Given the description of an element on the screen output the (x, y) to click on. 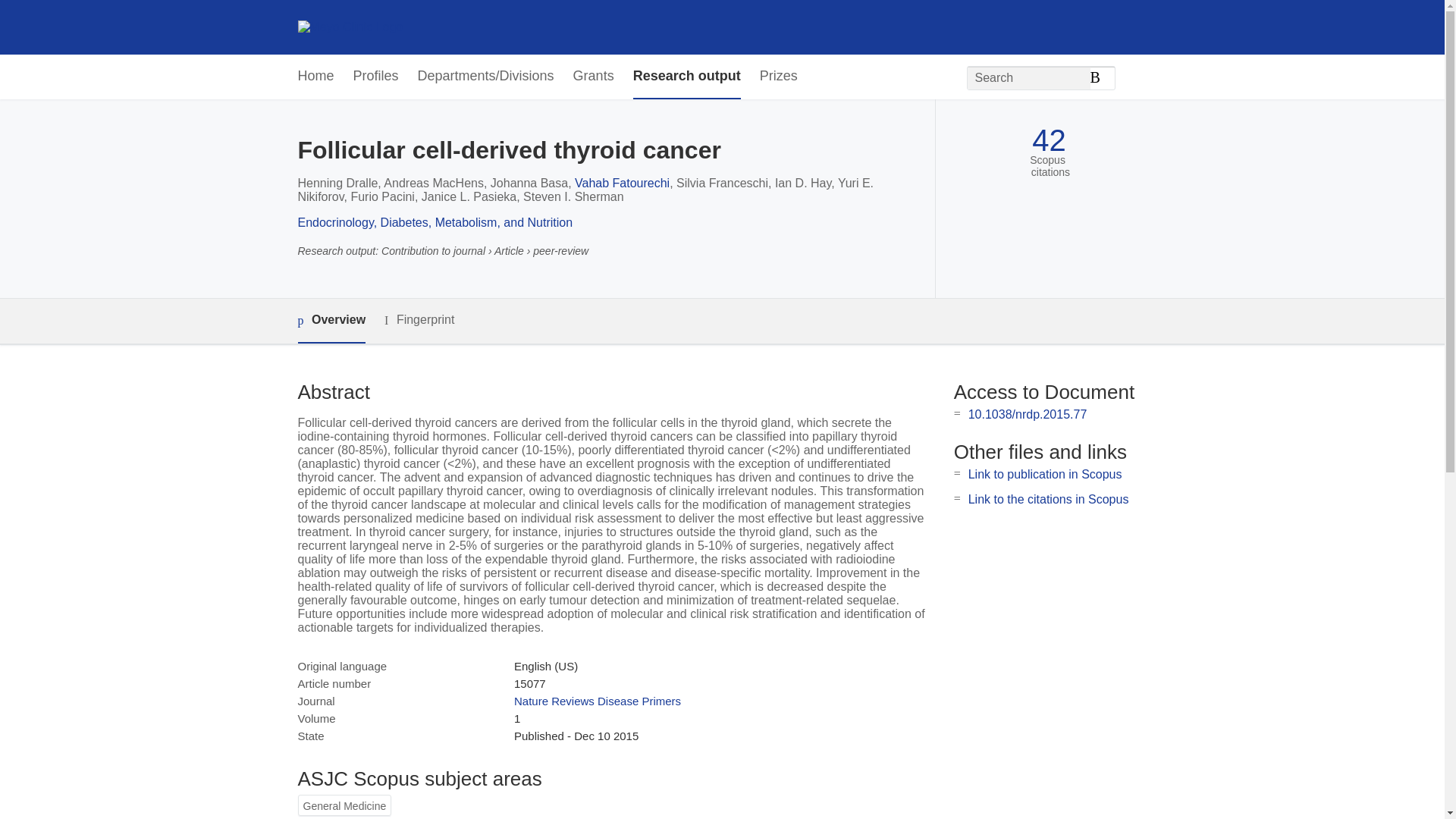
Endocrinology, Diabetes, Metabolism, and Nutrition (434, 222)
Vahab Fatourechi (622, 182)
Nature Reviews Disease Primers (597, 700)
42 (1048, 140)
Link to the citations in Scopus (1048, 499)
Fingerprint (419, 320)
Link to publication in Scopus (1045, 473)
Profiles (375, 76)
Research output (687, 76)
Overview (331, 320)
Mayo Clinic Home (350, 27)
Grants (593, 76)
